Given the description of an element on the screen output the (x, y) to click on. 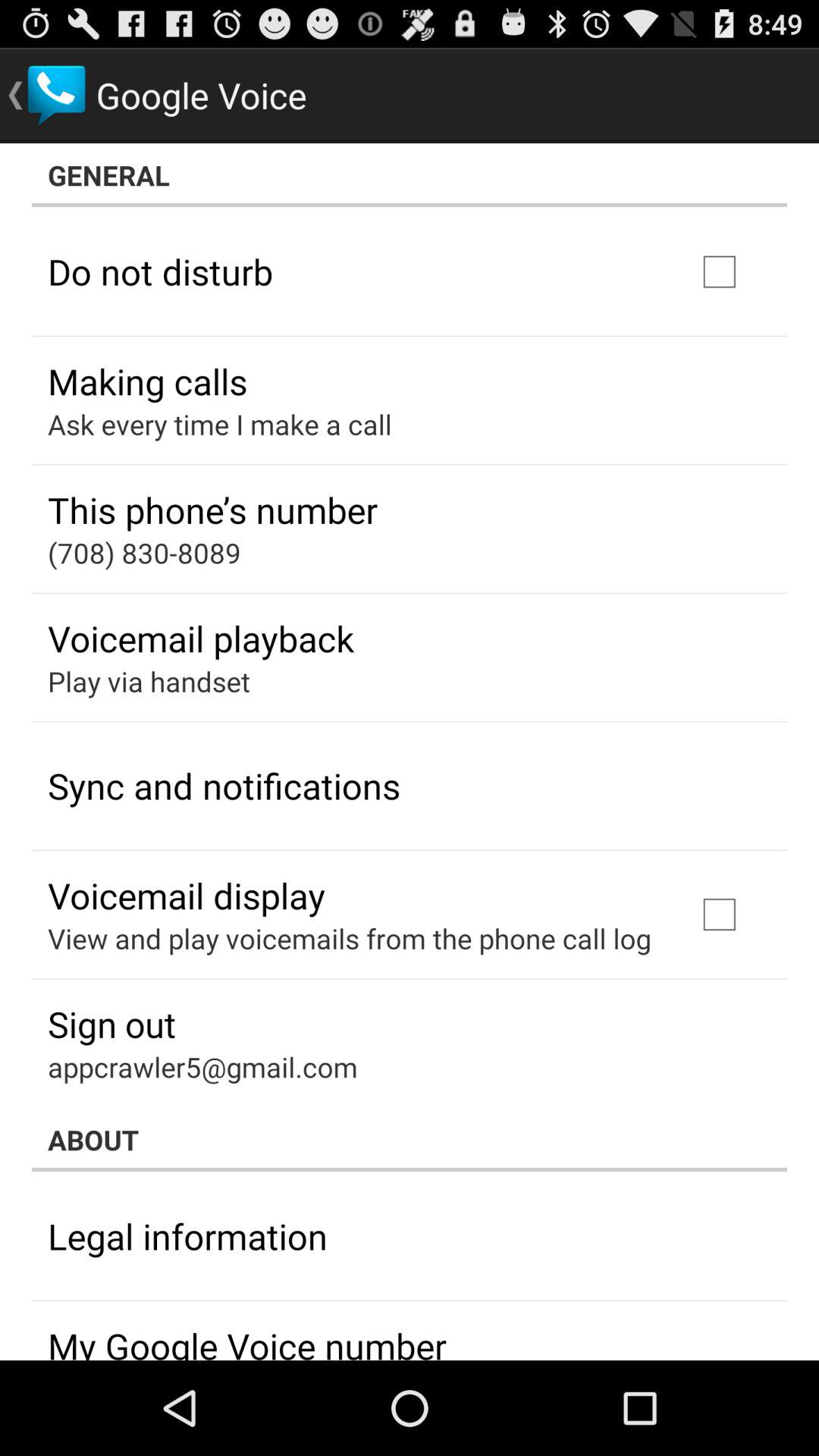
open making calls app (147, 381)
